Given the description of an element on the screen output the (x, y) to click on. 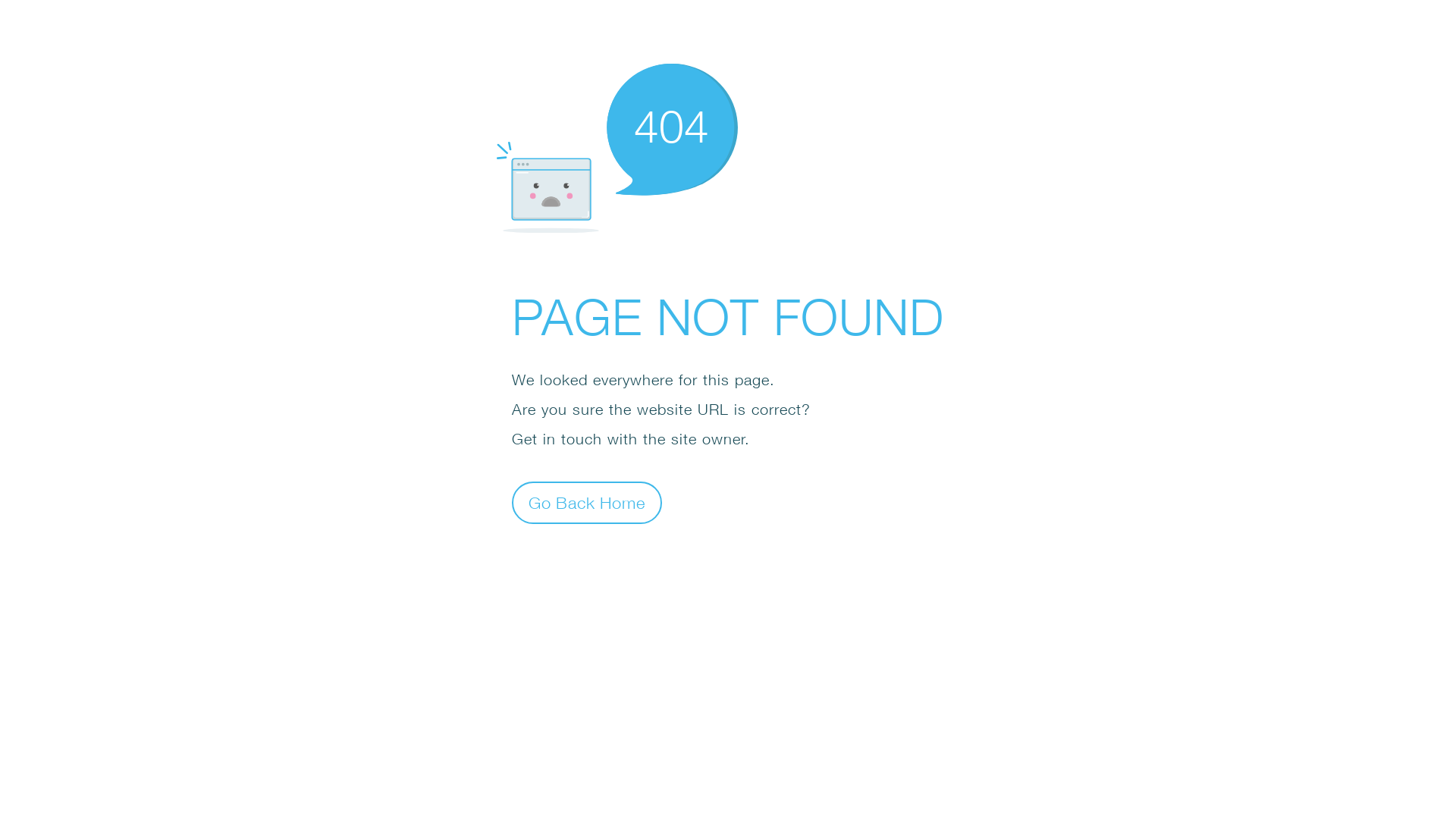
Go Back Home Element type: text (586, 502)
